Given the description of an element on the screen output the (x, y) to click on. 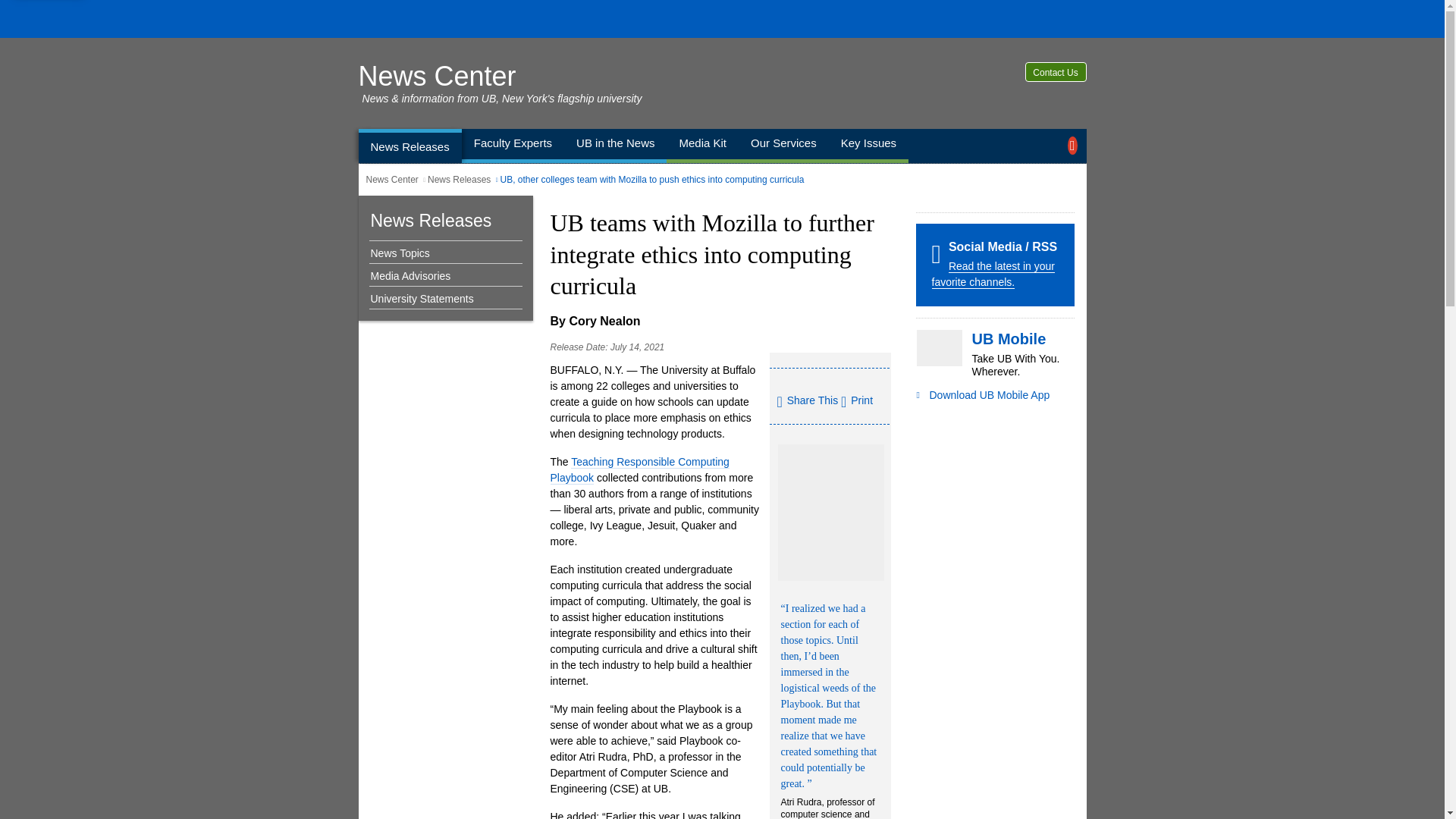
Faculty Experts (512, 145)
Teaching Responsible Computing Playbook (639, 469)
Share This (807, 401)
News Topics (441, 253)
Read the latest in your favorite channels. (992, 274)
News Center (436, 75)
UB in the News (615, 145)
News Releases (430, 220)
Media Kit (702, 145)
Our Services (783, 145)
